Given the description of an element on the screen output the (x, y) to click on. 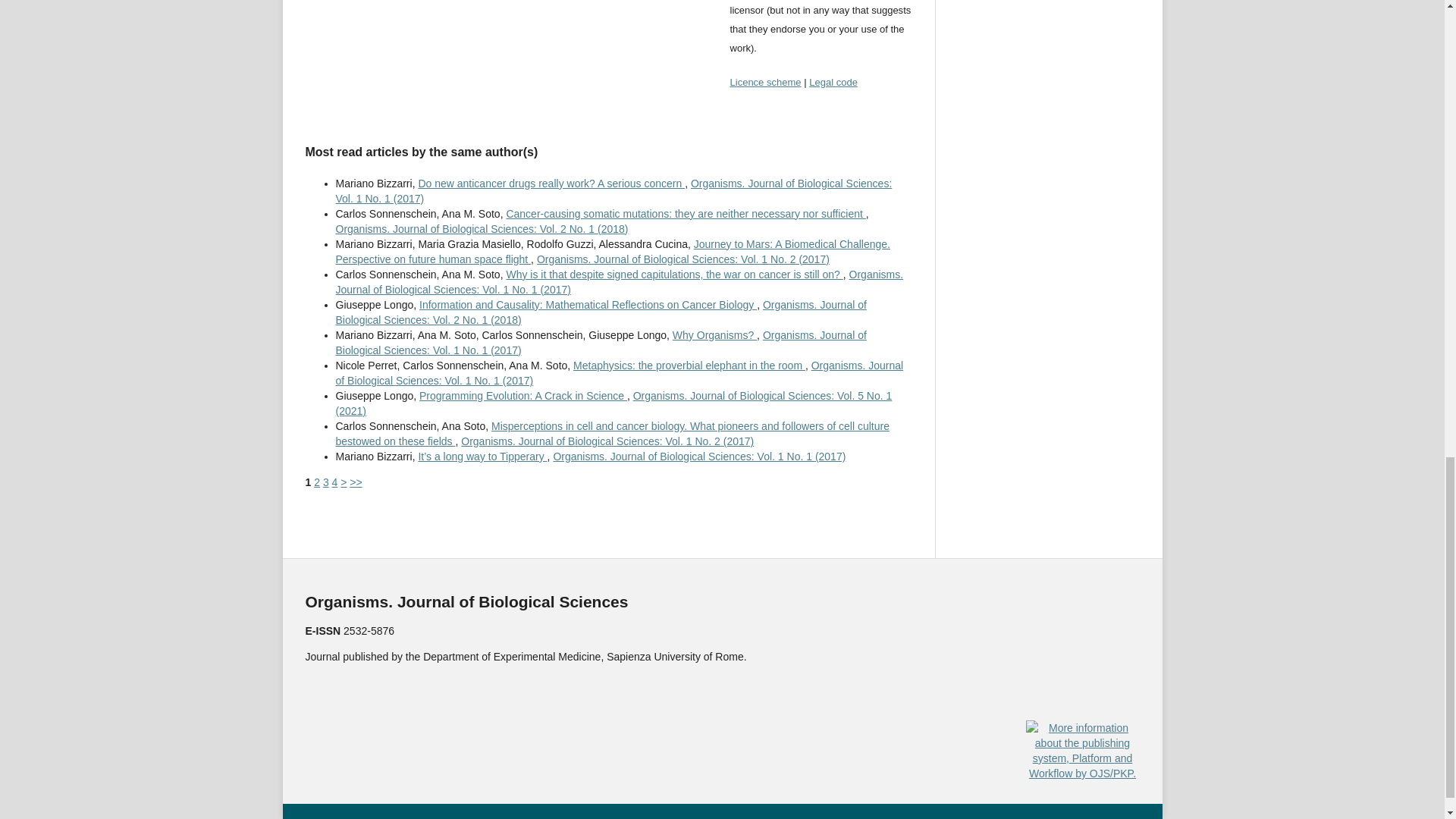
Legal code (833, 81)
Do new anticancer drugs really work? A serious concern (550, 183)
Licence scheme (764, 81)
